Given the description of an element on the screen output the (x, y) to click on. 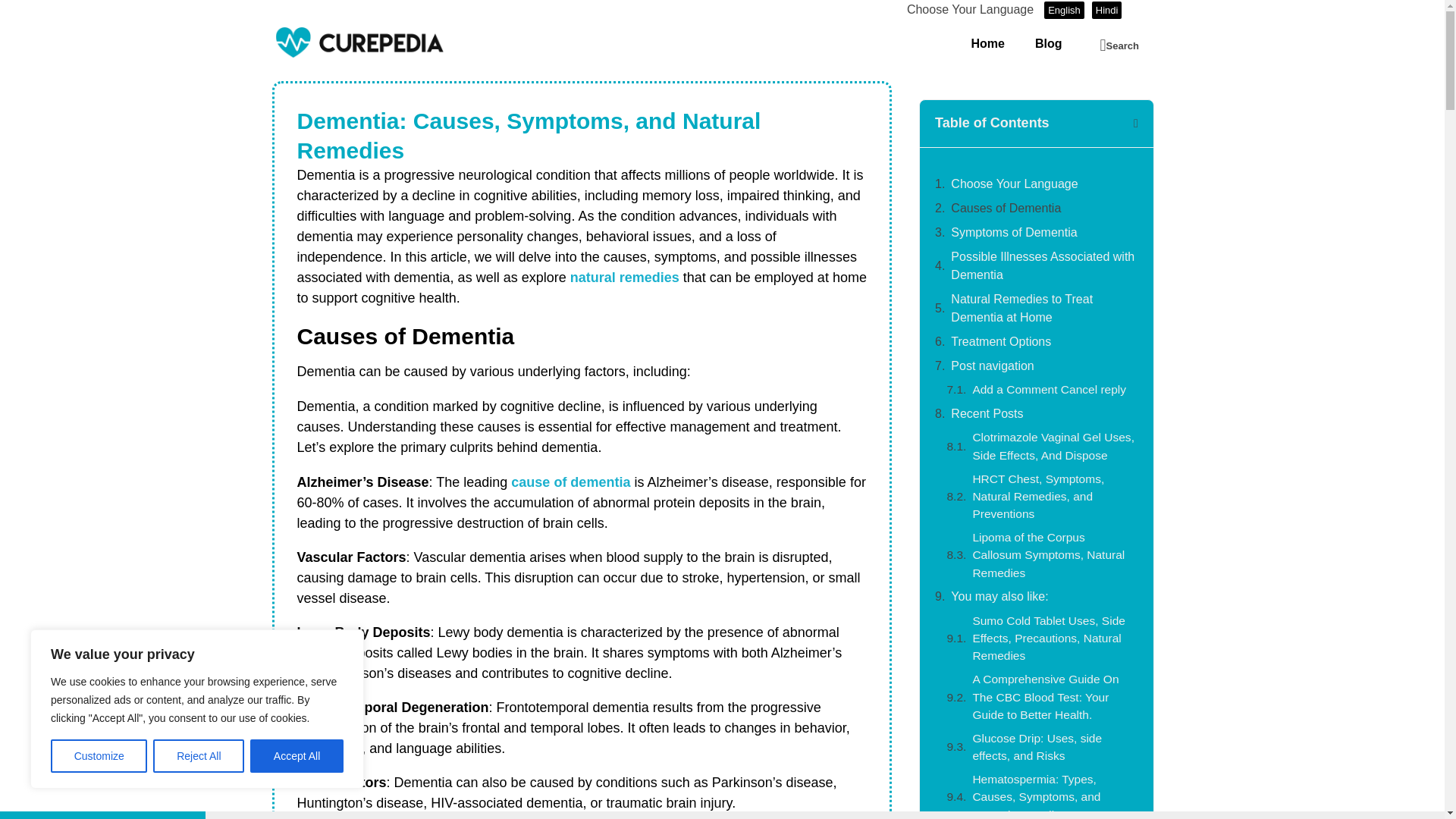
Choose Your Language (1013, 184)
Possible Illnesses Associated with Dementia  (1044, 266)
natural remedies (624, 277)
Accept All (296, 756)
Home (987, 43)
Reject All (198, 756)
Symptoms of Dementia  (1015, 232)
Causes of Dementia  (1007, 208)
Treatment Options  (1002, 341)
Hindi (1107, 9)
Blog (1048, 43)
English (1063, 9)
Search (1118, 45)
Customize (98, 756)
Natural Remedies to Treat Dementia at Home  (1044, 308)
